Given the description of an element on the screen output the (x, y) to click on. 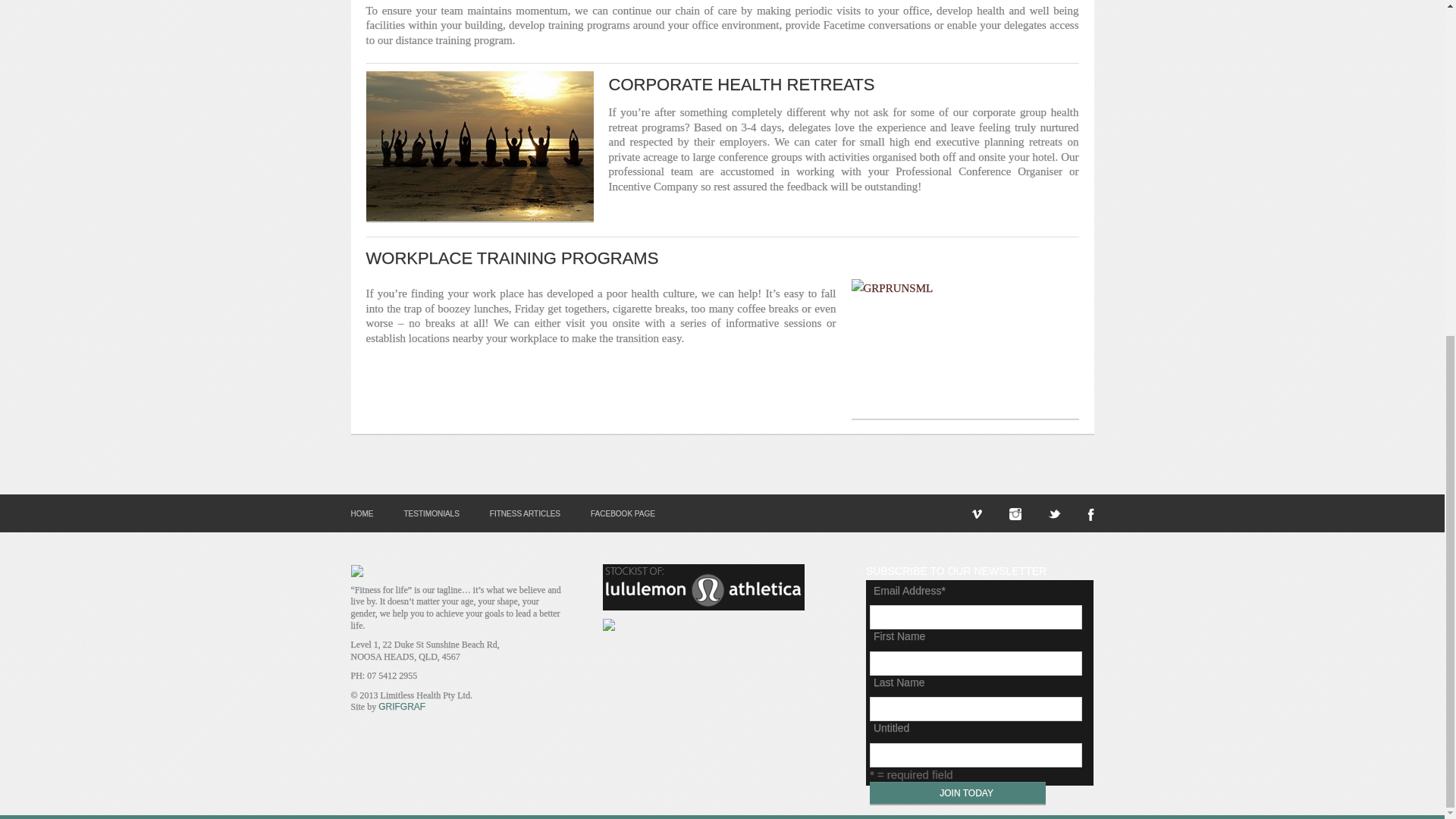
corporate2 (478, 146)
FITNESS ARTICLES (524, 513)
Join Today (957, 792)
Join Today (957, 792)
HOME (361, 513)
GRIFGRAF (401, 706)
TESTIMONIALS (430, 513)
FACEBOOK PAGE (623, 513)
